Given the description of an element on the screen output the (x, y) to click on. 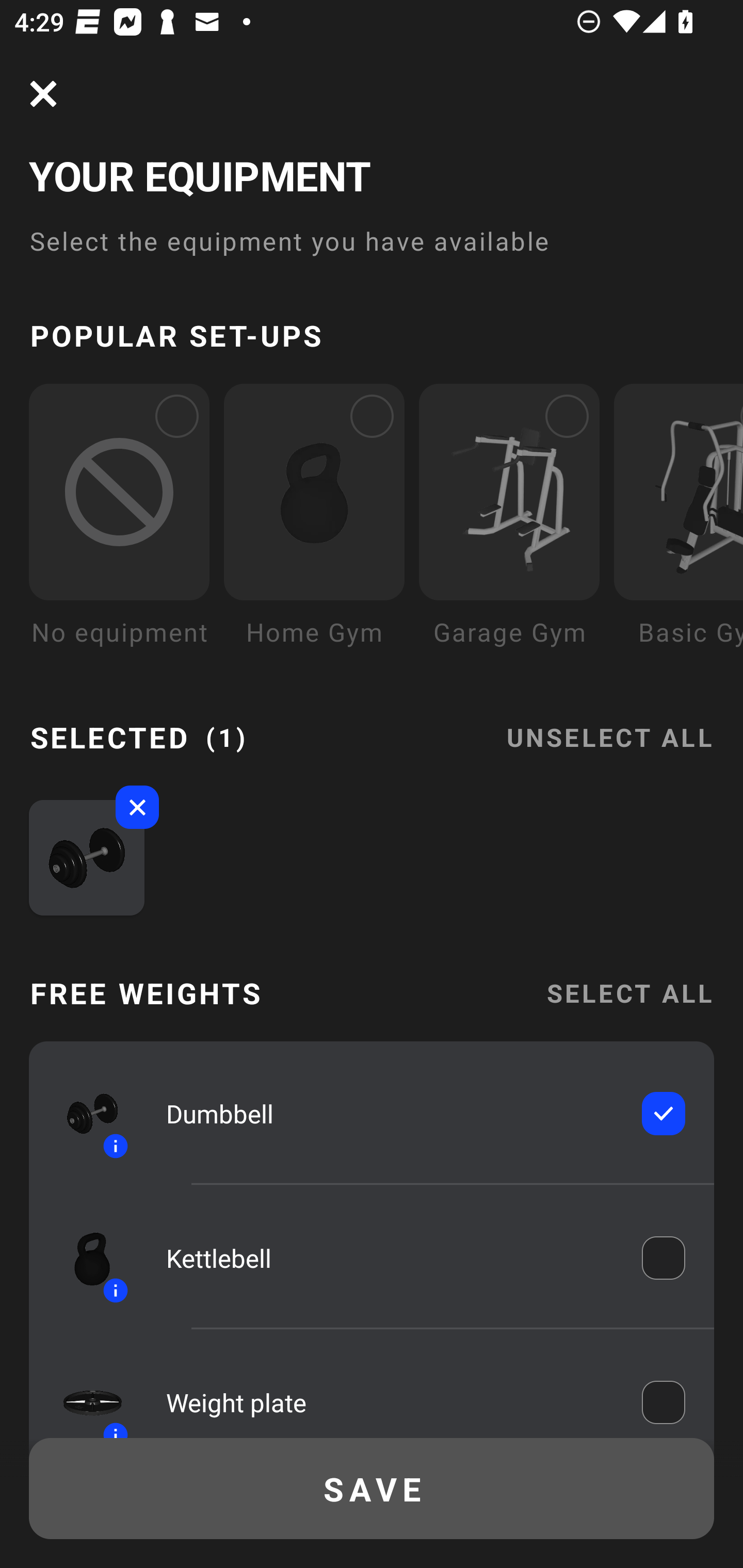
Navigation icon (43, 93)
UNSELECT ALL (609, 725)
SELECT ALL (629, 993)
Equipment icon Information icon (82, 1113)
Dumbbell (389, 1113)
Equipment icon Information icon (82, 1258)
Kettlebell (389, 1258)
Equipment icon Information icon (82, 1392)
Weight plate (389, 1398)
SAVE (371, 1488)
